Given the description of an element on the screen output the (x, y) to click on. 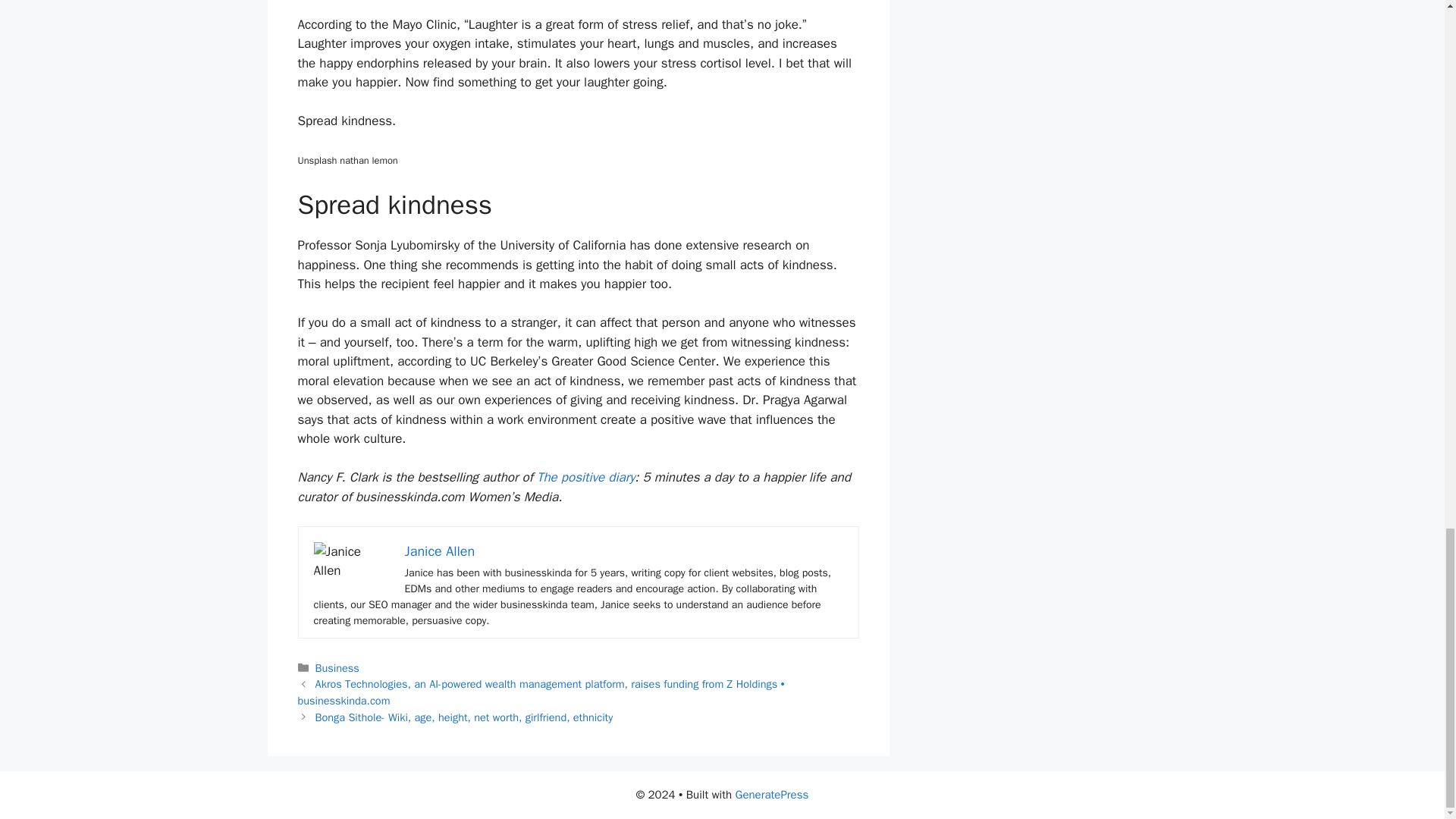
The positive diary (585, 477)
Business (337, 667)
Janice Allen (440, 550)
GeneratePress (772, 794)
